Given the description of an element on the screen output the (x, y) to click on. 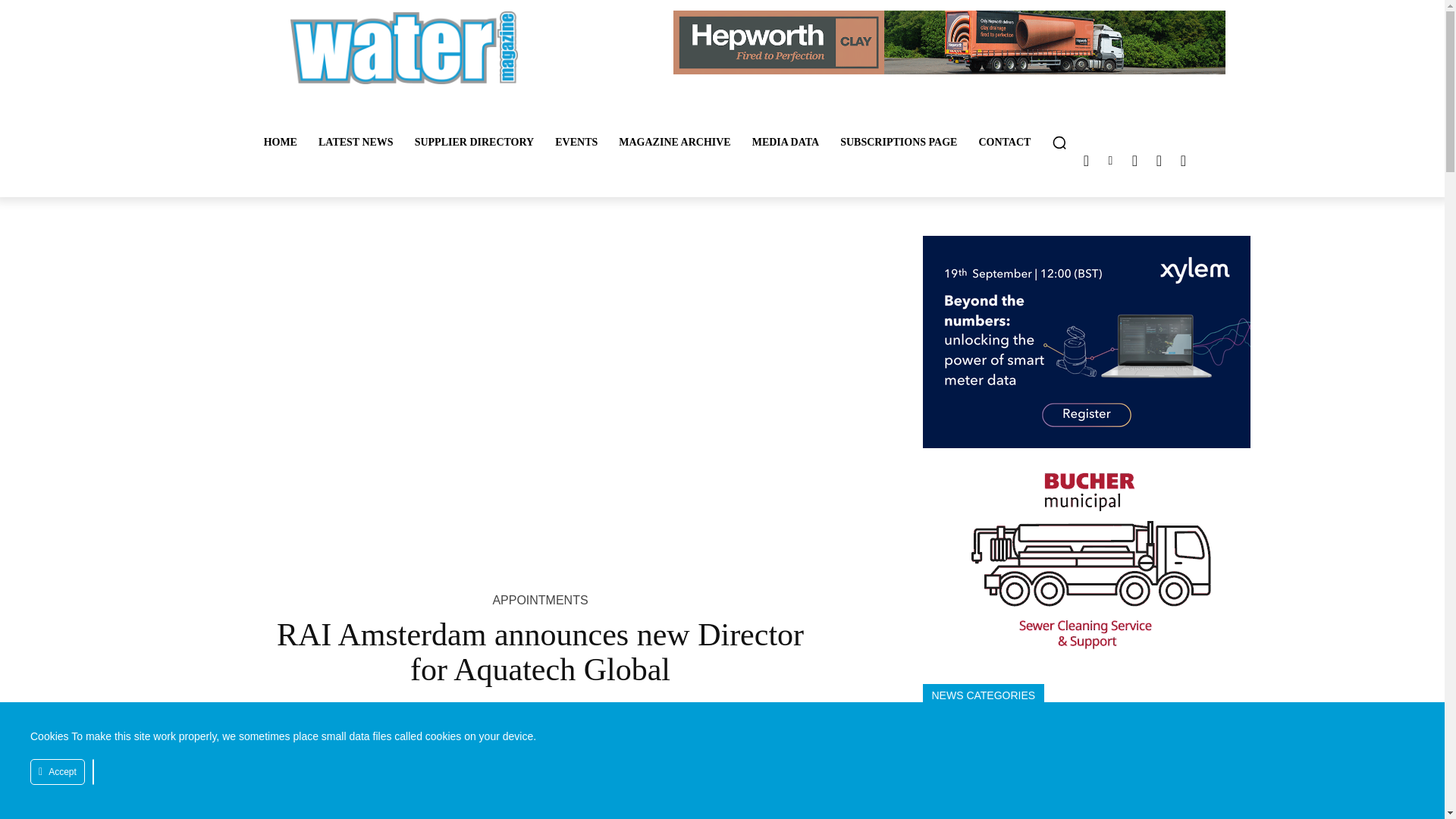
Instagram (1133, 160)
SUBSCRIPTIONS PAGE (898, 142)
LATEST NEWS (355, 142)
CONTACT (1004, 142)
Twitter (1085, 160)
MEDIA DATA (785, 142)
HOME (280, 142)
Linkedin (1110, 160)
EVENTS (576, 142)
MAGAZINE ARCHIVE (674, 142)
